Given the description of an element on the screen output the (x, y) to click on. 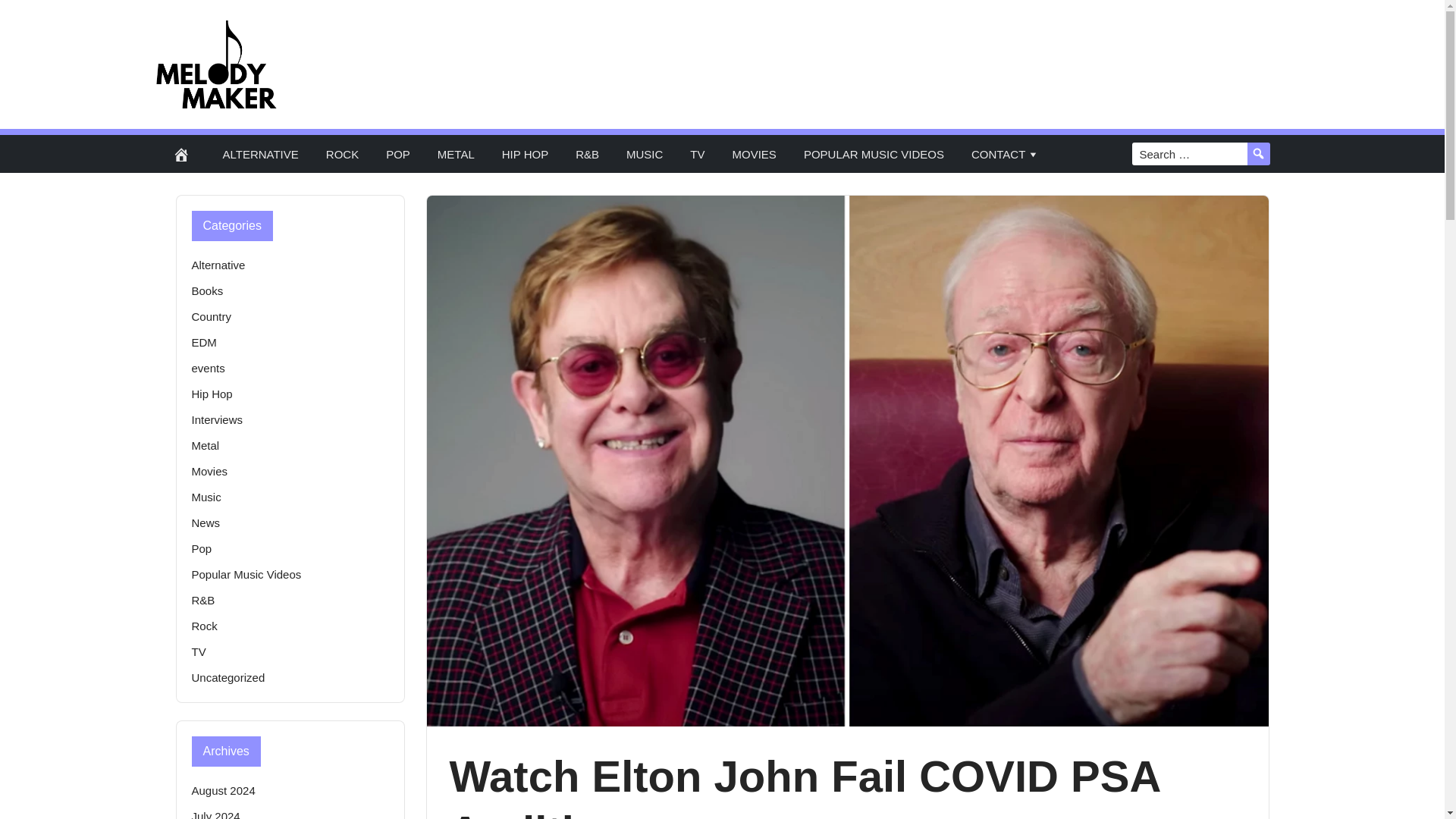
MOVIES (754, 153)
CONTACT (1005, 153)
POPULAR MUSIC VIDEOS (874, 153)
MUSIC (644, 153)
ROCK (342, 153)
HIP HOP (524, 153)
ALTERNATIVE (261, 153)
METAL (455, 153)
TV (697, 153)
POP (397, 153)
